Given the description of an element on the screen output the (x, y) to click on. 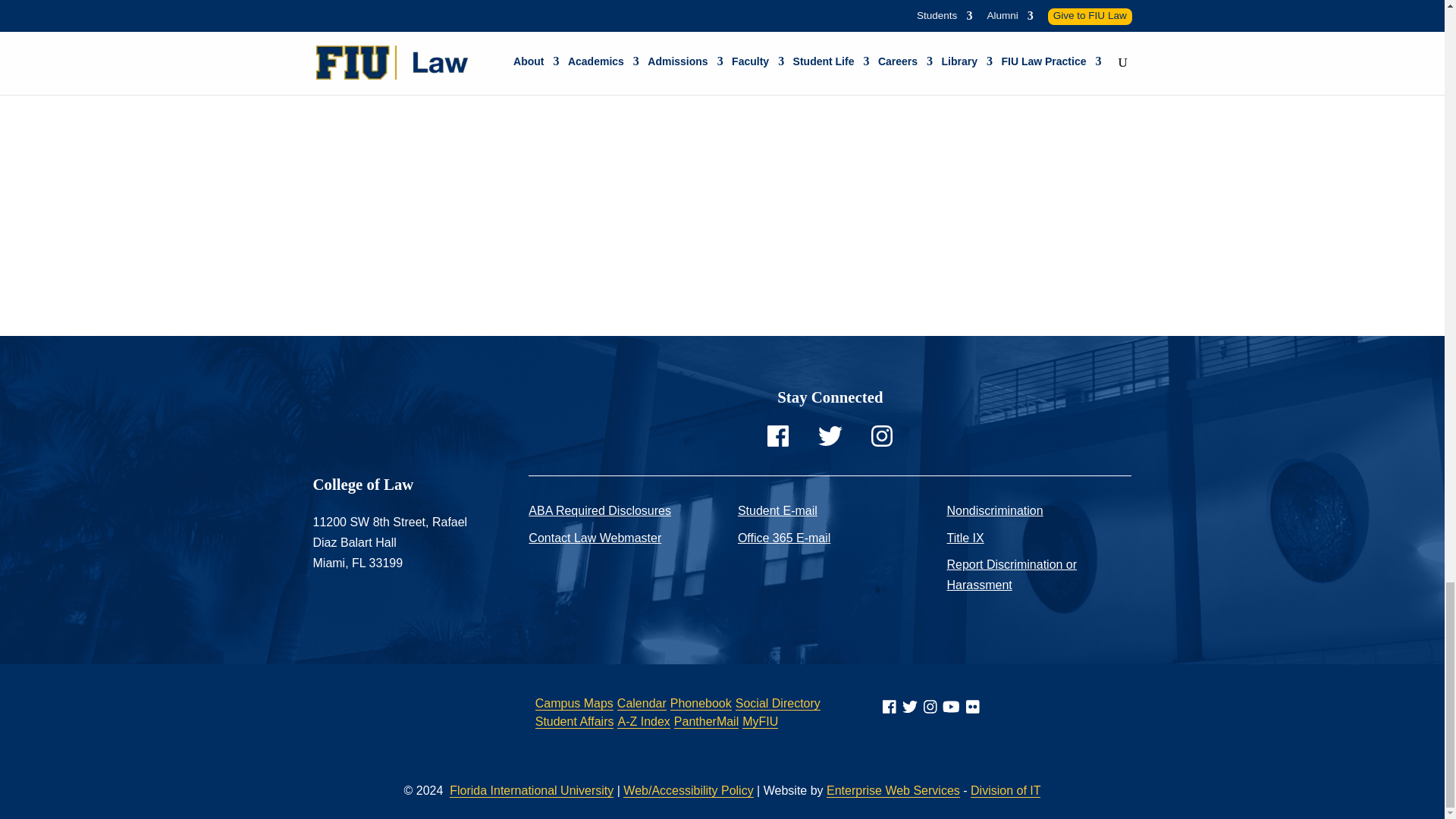
Florida International University (530, 790)
FIU Web and Accessibility Policy (687, 790)
Florida International University Logo (443, 730)
Division of Information Technology Website (1006, 790)
Interaction Development Studio at FIU (893, 790)
